Given the description of an element on the screen output the (x, y) to click on. 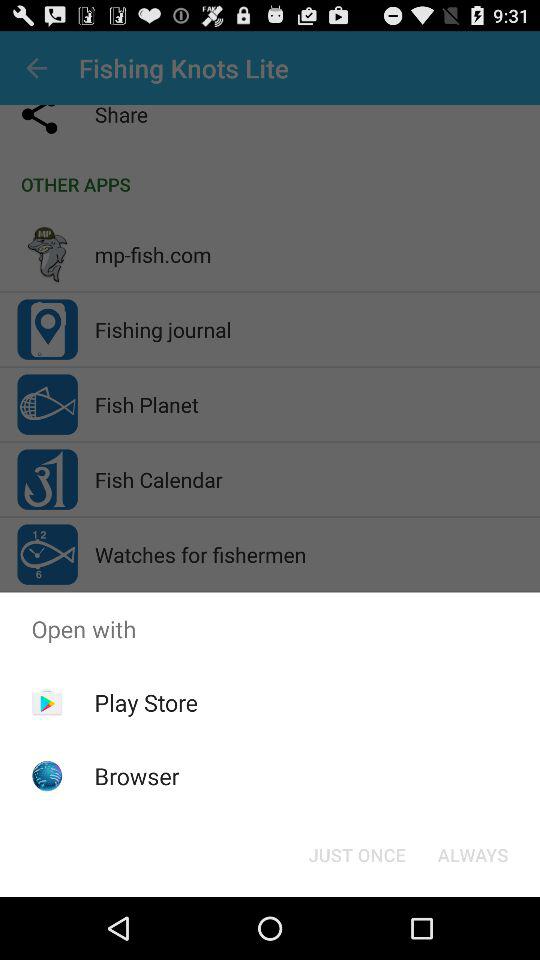
launch the app below open with icon (472, 854)
